Given the description of an element on the screen output the (x, y) to click on. 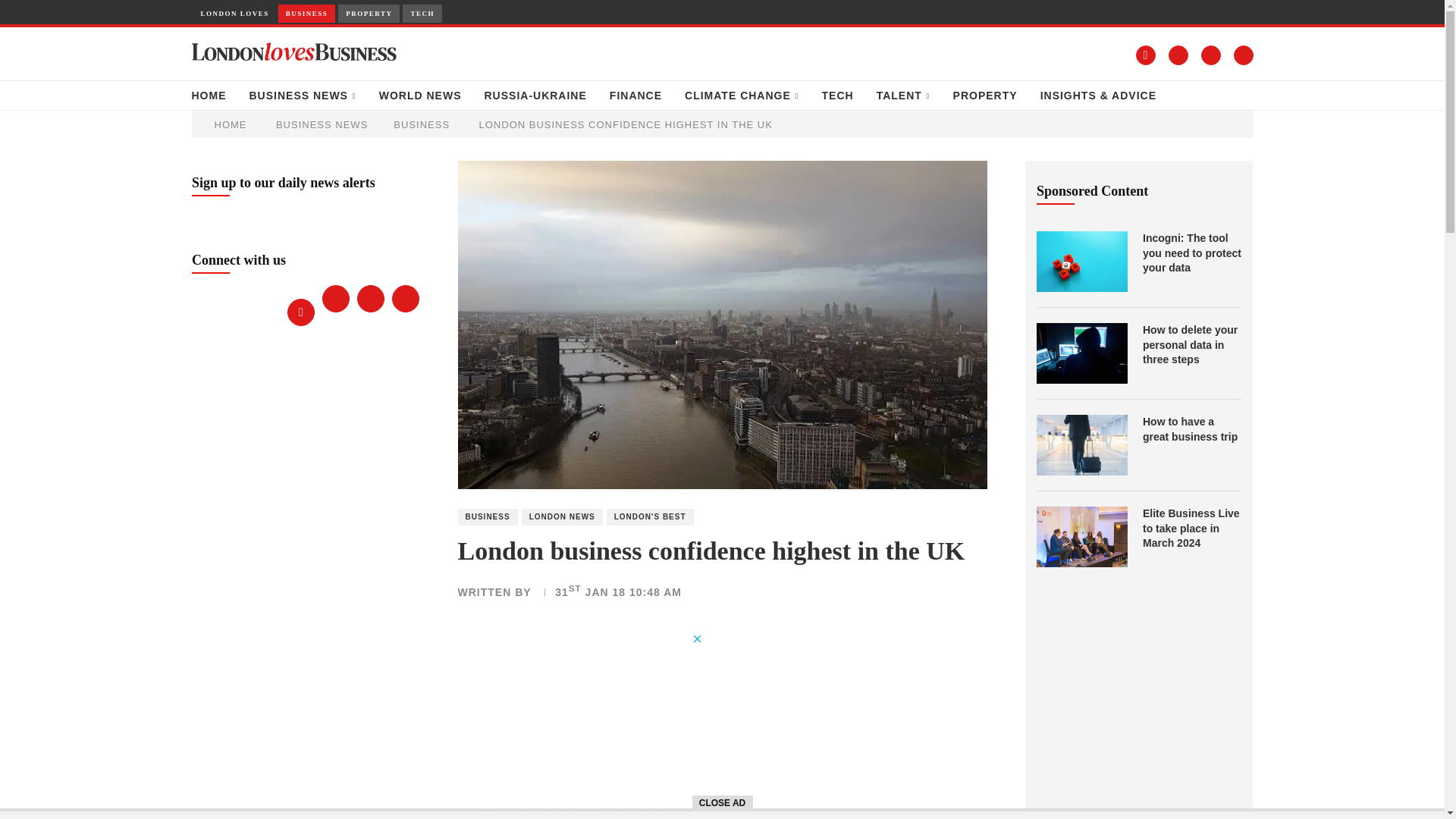
How to delete your personal data in three steps (1191, 344)
Incogni: The tool you need to protect your data (1191, 253)
How to delete your personal data in three steps (1081, 353)
Incogni: The tool you need to protect your data (1081, 260)
3rd party ad content (589, 725)
